Given the description of an element on the screen output the (x, y) to click on. 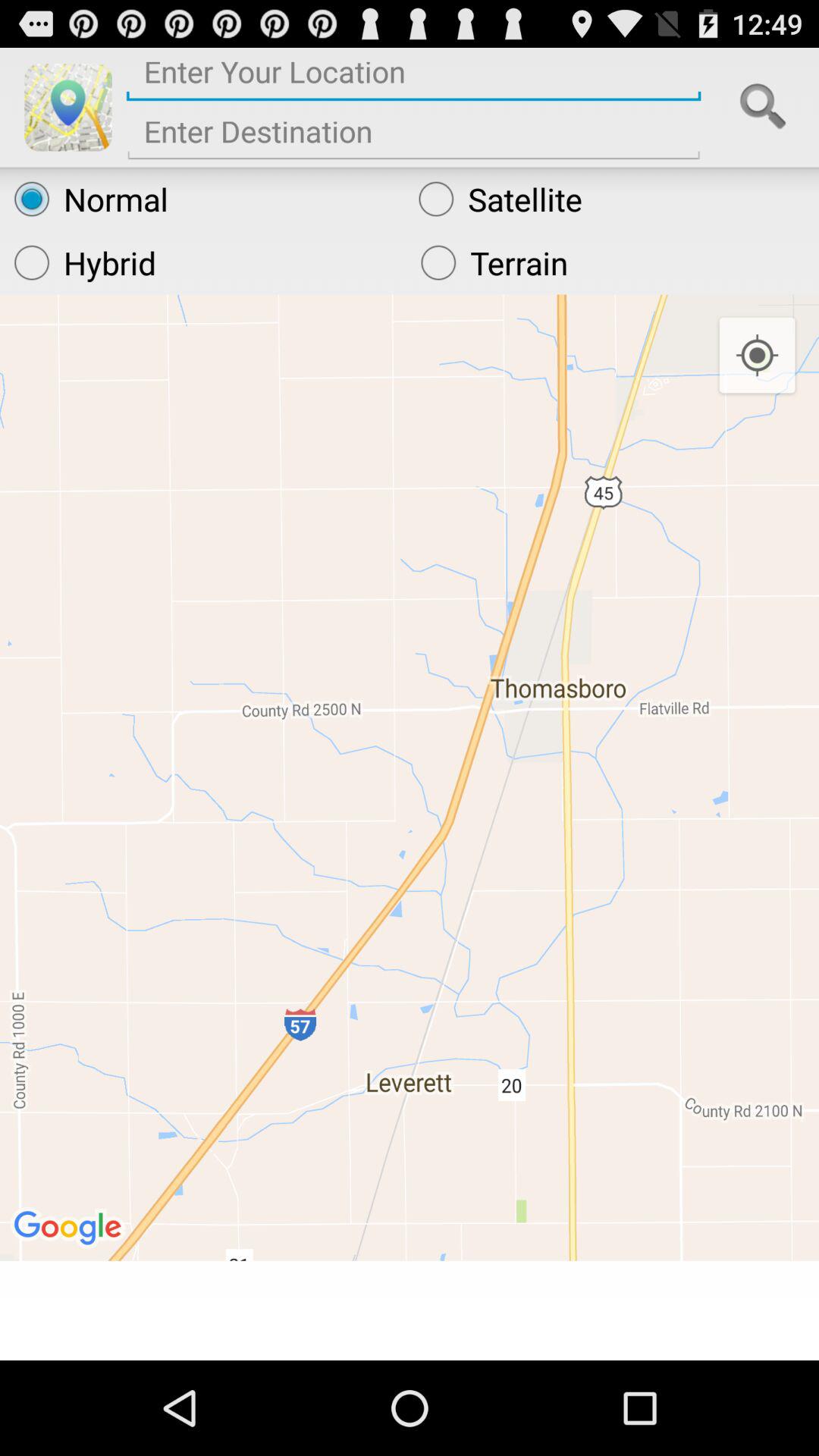
tap the radio button below the normal radio button (612, 262)
